Given the description of an element on the screen output the (x, y) to click on. 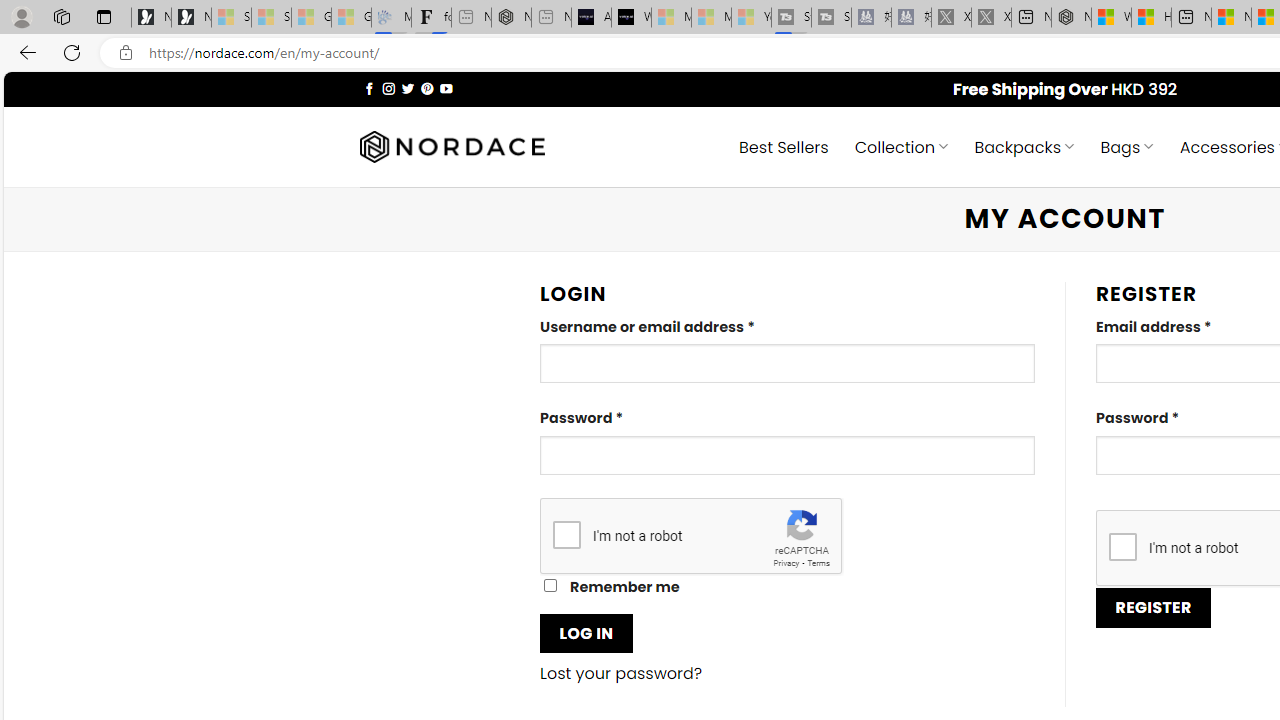
Newsletter Sign Up (191, 17)
Follow on Instagram (388, 88)
LOG IN (586, 632)
